Given the description of an element on the screen output the (x, y) to click on. 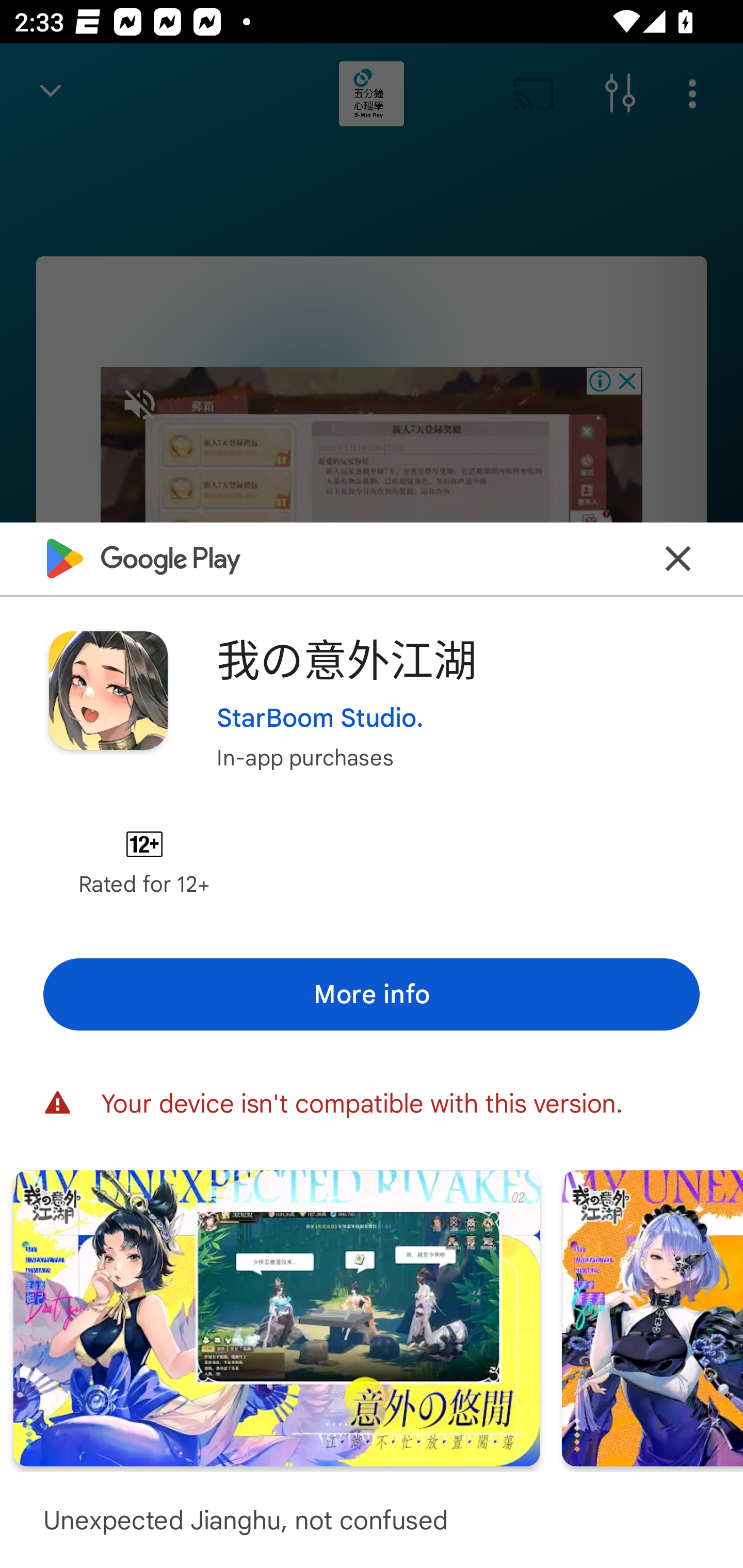
Close (677, 558)
Image of app or game icon for 我の意外江湖 (108, 690)
StarBoom Studio. (320, 716)
More info (371, 994)
Screenshot "2" of "5" (276, 1317)
